Given the description of an element on the screen output the (x, y) to click on. 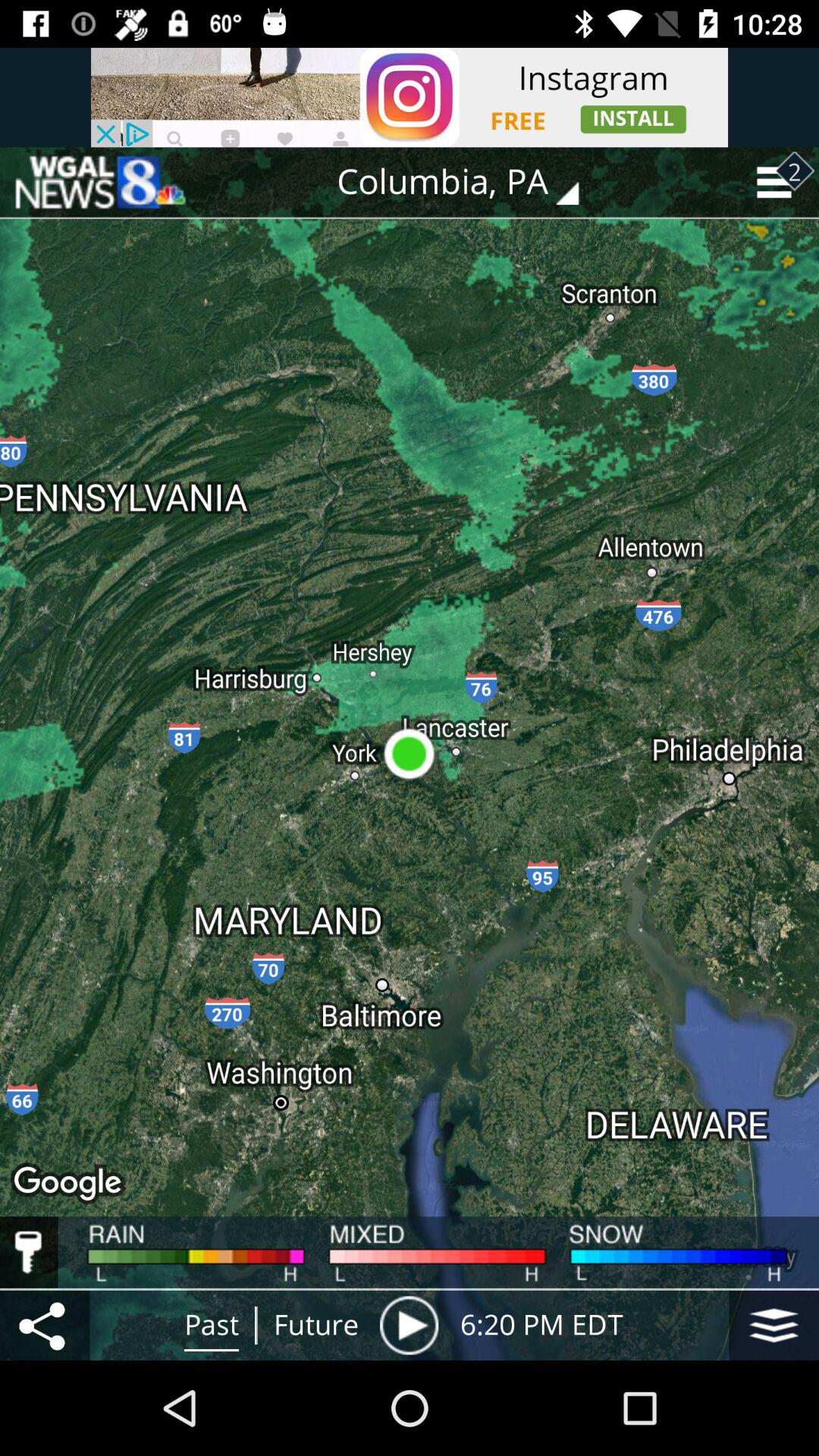
see advertisement (409, 97)
